Given the description of an element on the screen output the (x, y) to click on. 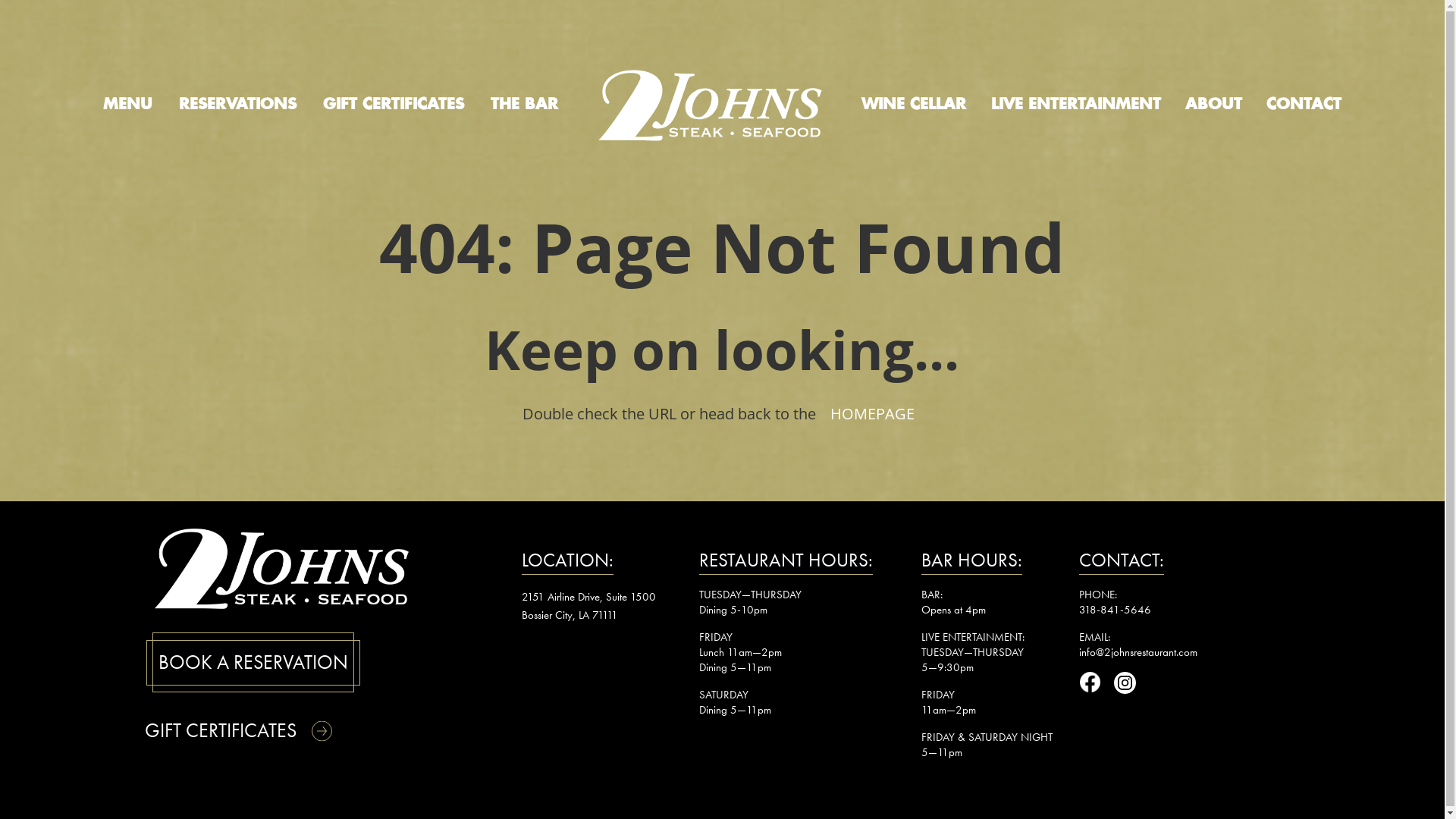
MENU Element type: text (127, 104)
WINE CELLAR Element type: text (913, 104)
Site Title Element type: hover (709, 105)
Site Title Element type: hover (281, 566)
318-841-5646 Element type: text (1115, 609)
THE BAR Element type: text (524, 104)
GIFT CERTIFICATES Element type: text (393, 104)
ABOUT Element type: text (1213, 104)
GIFT CERTIFICATES Element type: text (251, 730)
BOOK A RESERVATION Element type: text (253, 662)
RESERVATIONS Element type: text (237, 104)
2151 Airline Drive, Suite 1500
Bossier City, LA 71111 Element type: text (588, 605)
CONTACT Element type: text (1303, 104)
info@2johnsrestaurant.com Element type: text (1138, 651)
HOMEPAGE Element type: text (872, 413)
LIVE ENTERTAINMENT Element type: text (1076, 104)
